Given the description of an element on the screen output the (x, y) to click on. 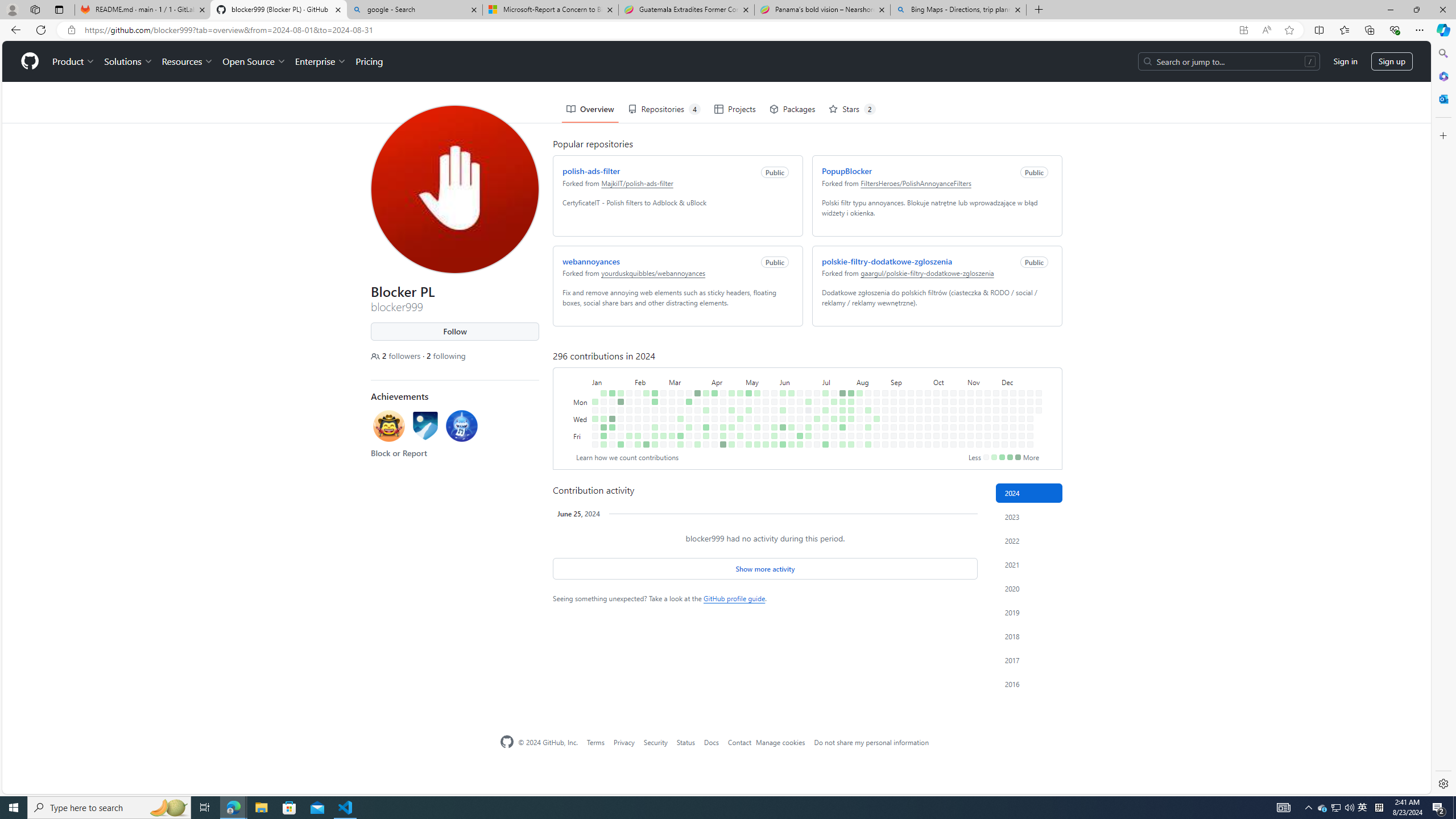
No contributions on October 14th. (942, 360)
Resources (184, 20)
No contributions on September 3rd. (890, 369)
No contributions on March 20th. (687, 377)
No contributions on July 12th. (823, 394)
Achievement: Arctic Code Vault Contributor (422, 384)
Achievement: Arctic Code Vault Contributor (422, 386)
Contribution activity in 2022 (1028, 540)
Monday (579, 360)
No contributions on December 25th. (1027, 377)
2 contributions on July 22nd. (840, 360)
Resources (184, 20)
July (835, 339)
Achievements (397, 354)
1 contribution on May 18th. (757, 444)
